Given the description of an element on the screen output the (x, y) to click on. 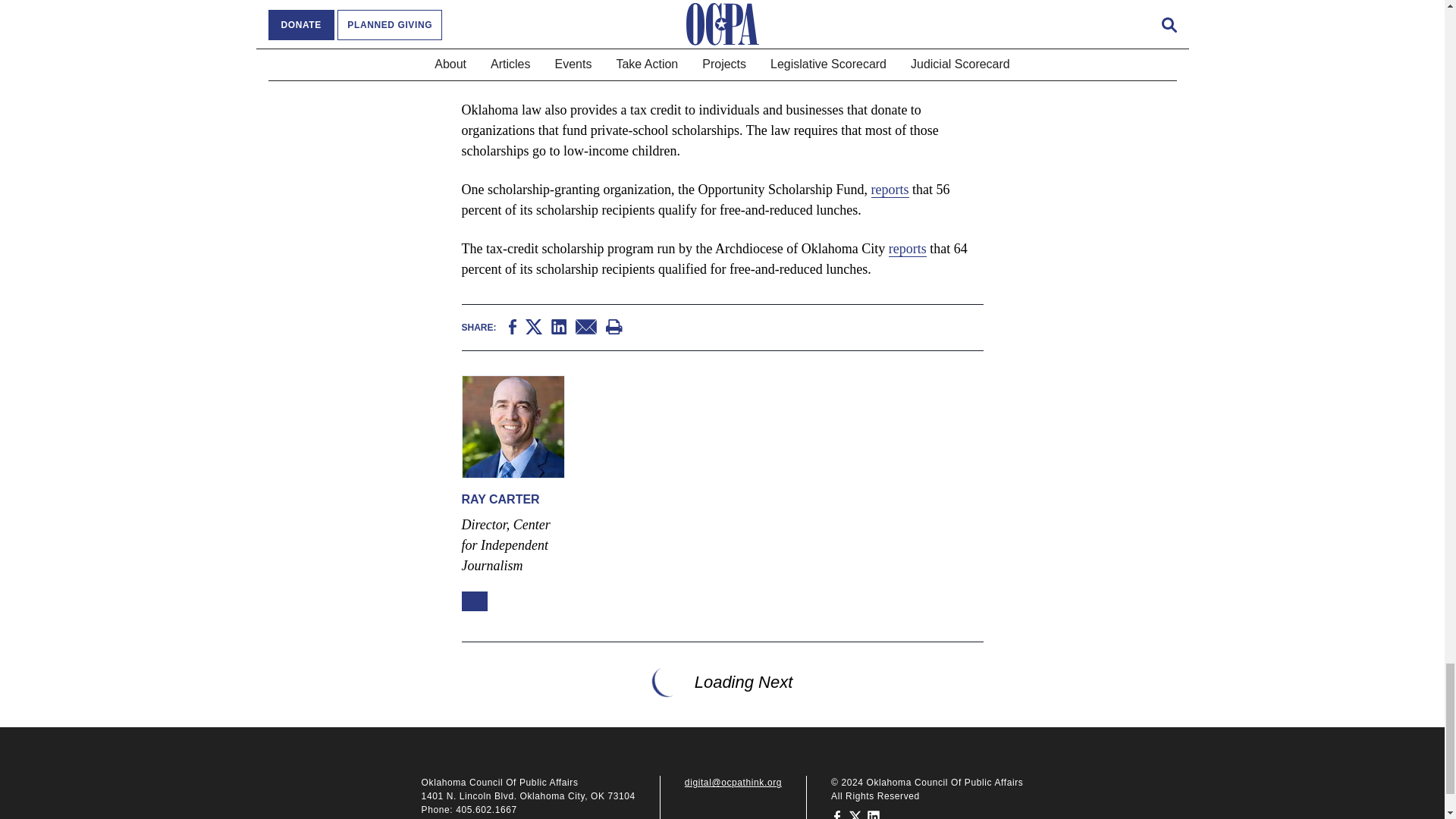
X Logo (854, 814)
LinkedIn Logo (558, 326)
X Logo (533, 326)
LinkedIn Logo (873, 814)
Facebook Logo (837, 814)
